Given the description of an element on the screen output the (x, y) to click on. 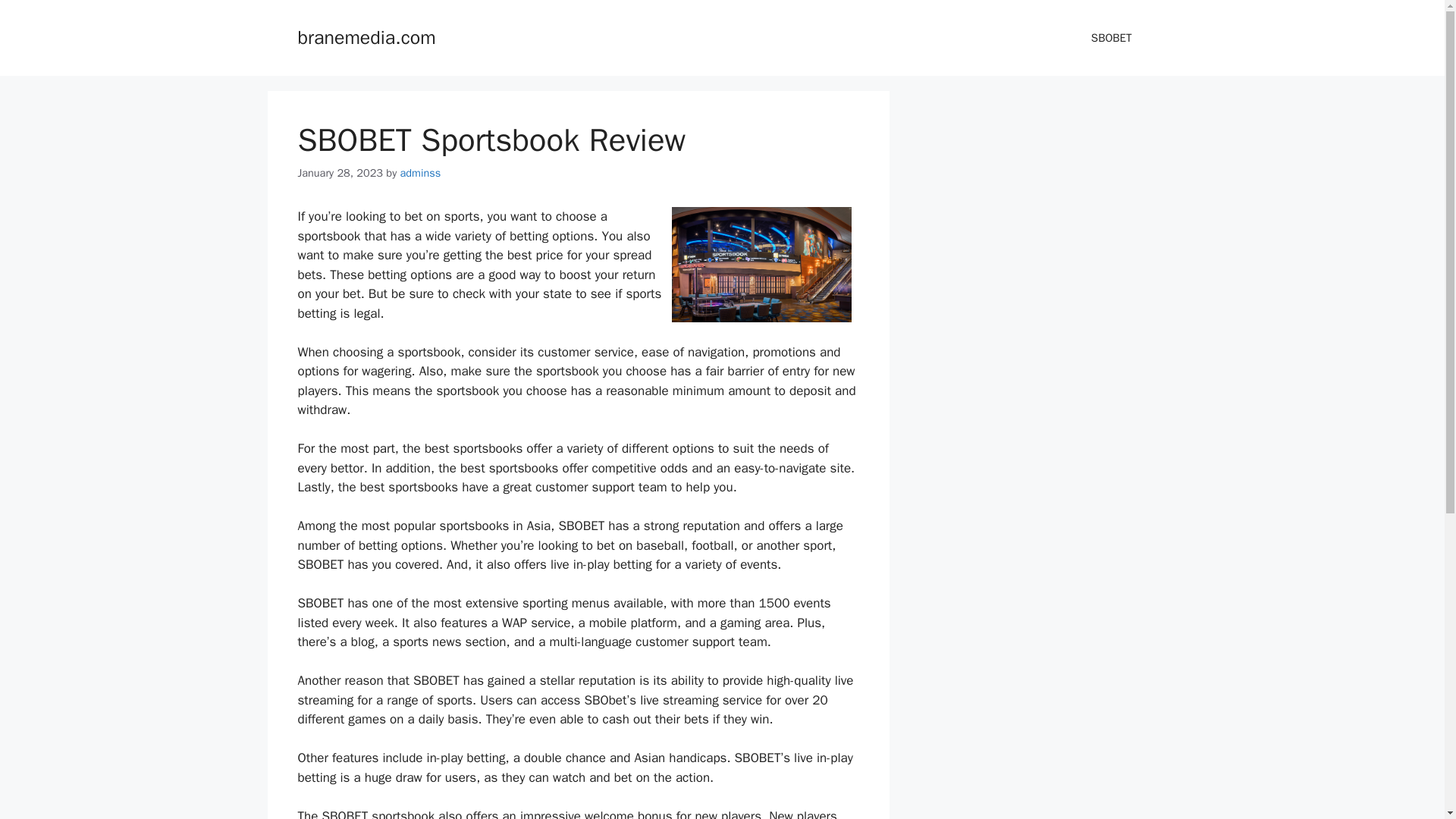
branemedia.com (366, 37)
View all posts by adminss (420, 172)
SBOBET (1111, 37)
adminss (420, 172)
